Given the description of an element on the screen output the (x, y) to click on. 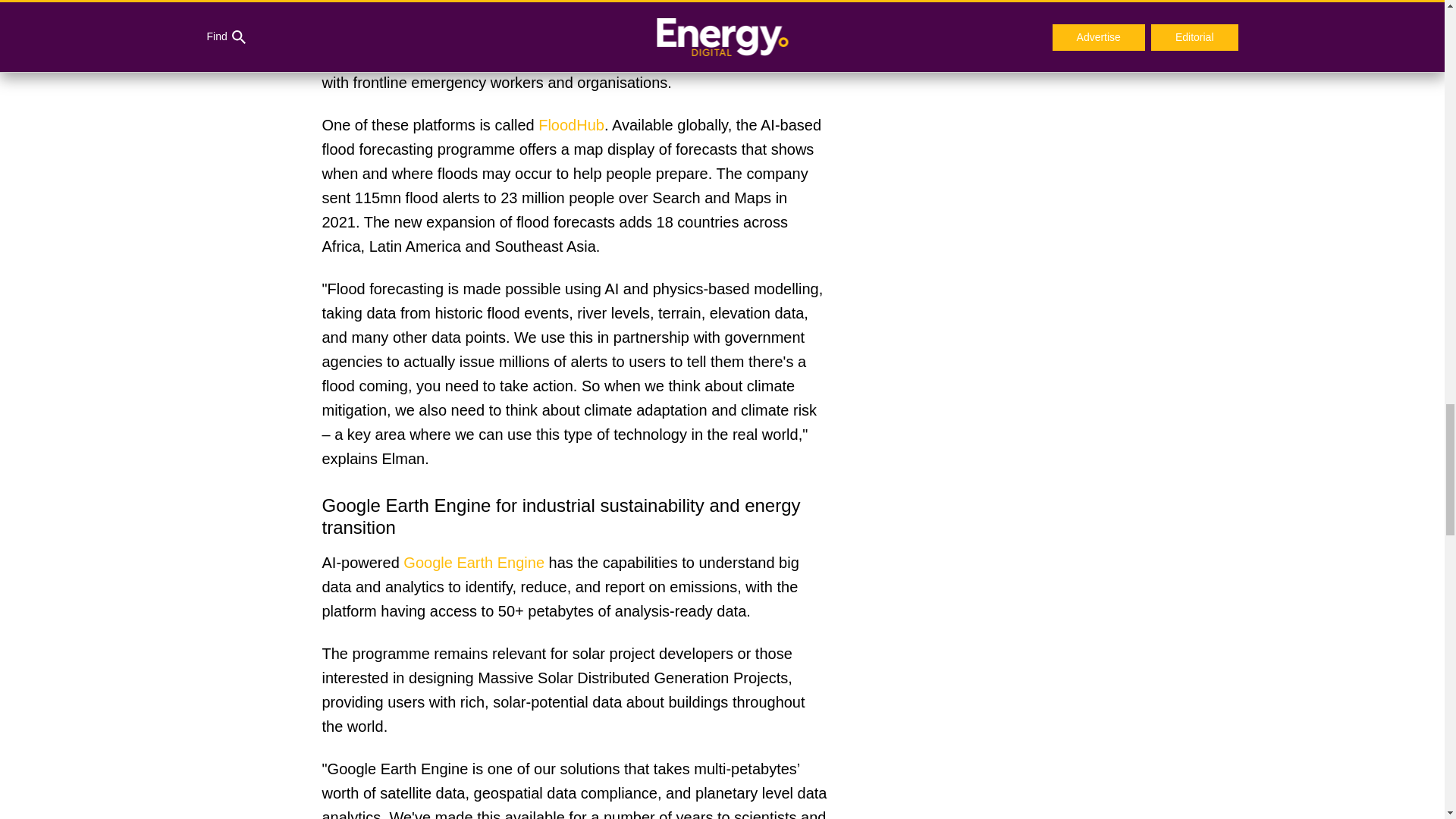
Google Earth Engine (473, 562)
FloodHub (571, 125)
